Given the description of an element on the screen output the (x, y) to click on. 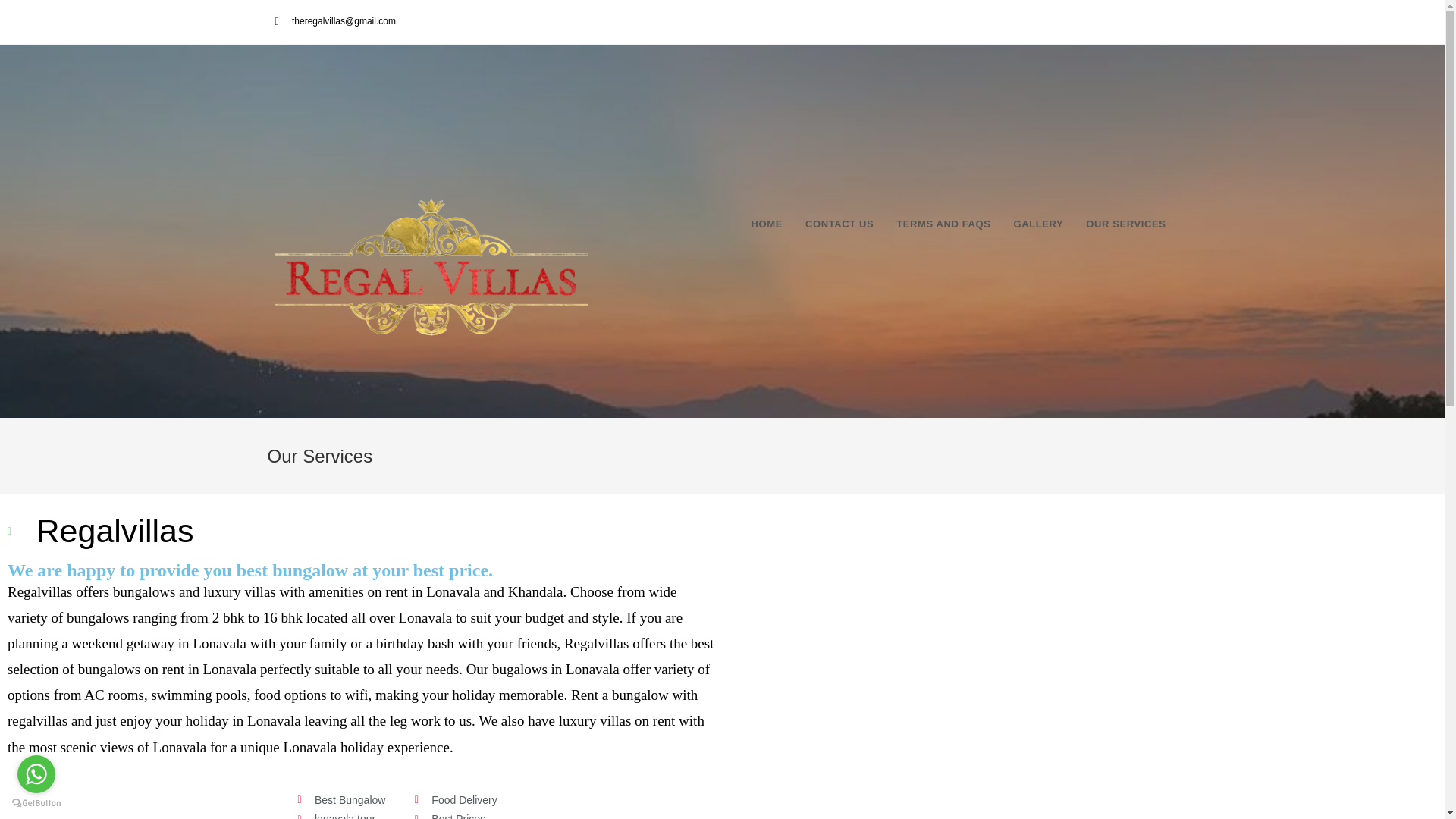
CONTACT US (839, 224)
TERMS AND FAQS (943, 224)
GALLERY (1037, 224)
OUR SERVICES (1125, 224)
HOME (766, 224)
